Given the description of an element on the screen output the (x, y) to click on. 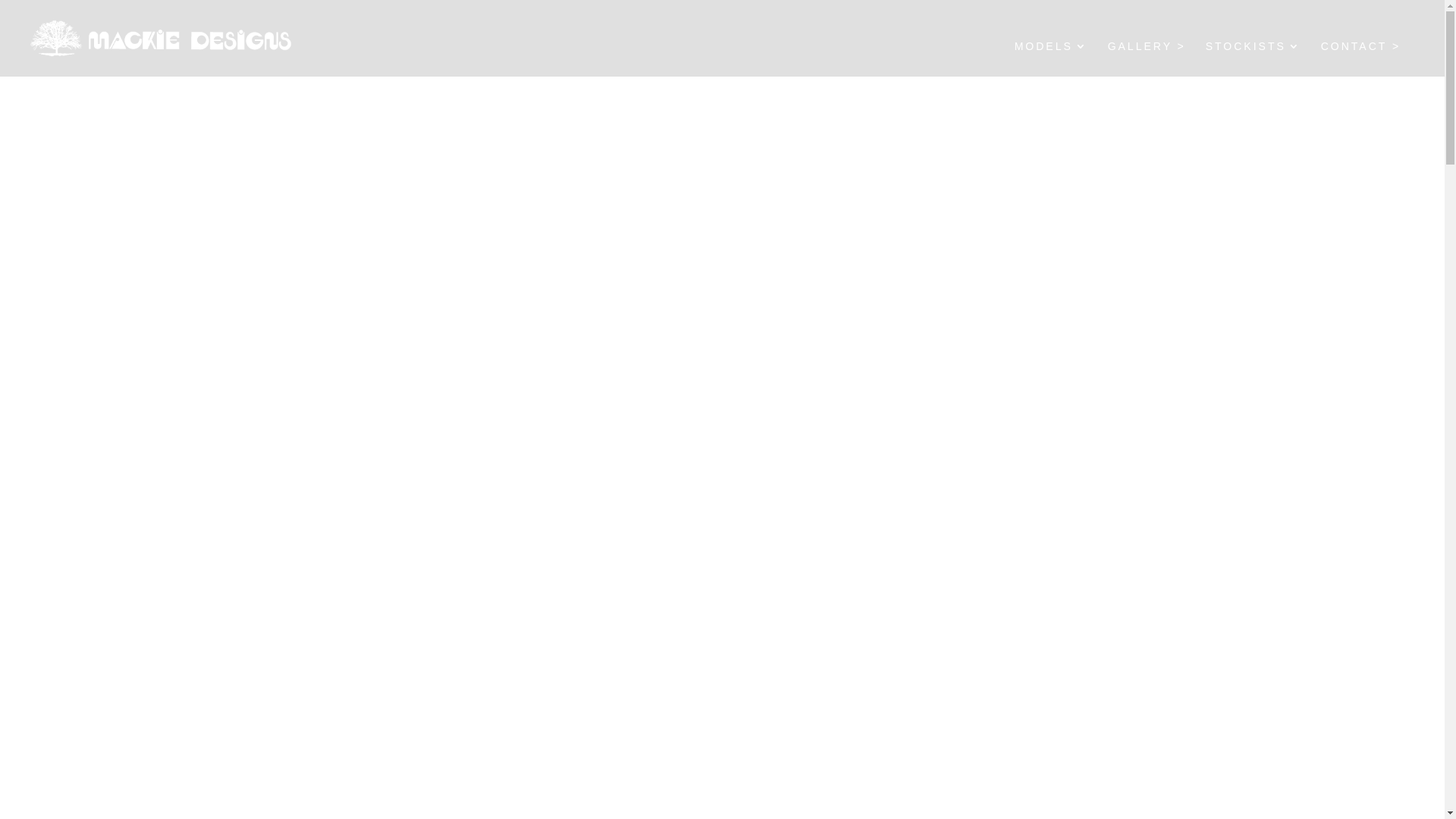
MODELS Element type: text (1051, 58)
GALLERY > Element type: text (1146, 58)
STOCKISTS Element type: text (1253, 58)
CONTACT > Element type: text (1360, 58)
